Given the description of an element on the screen output the (x, y) to click on. 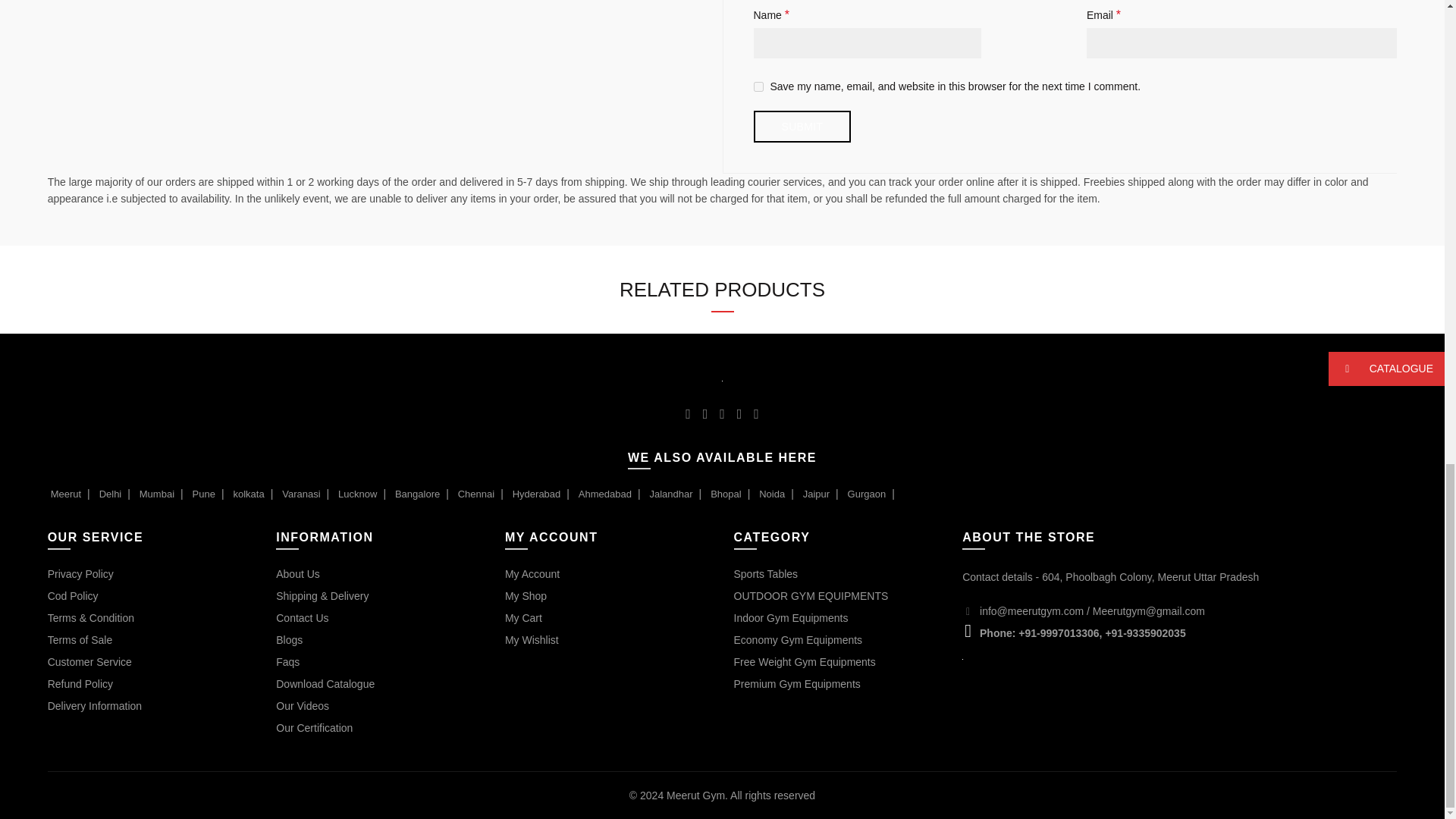
yes (758, 86)
Submit (802, 126)
